Given the description of an element on the screen output the (x, y) to click on. 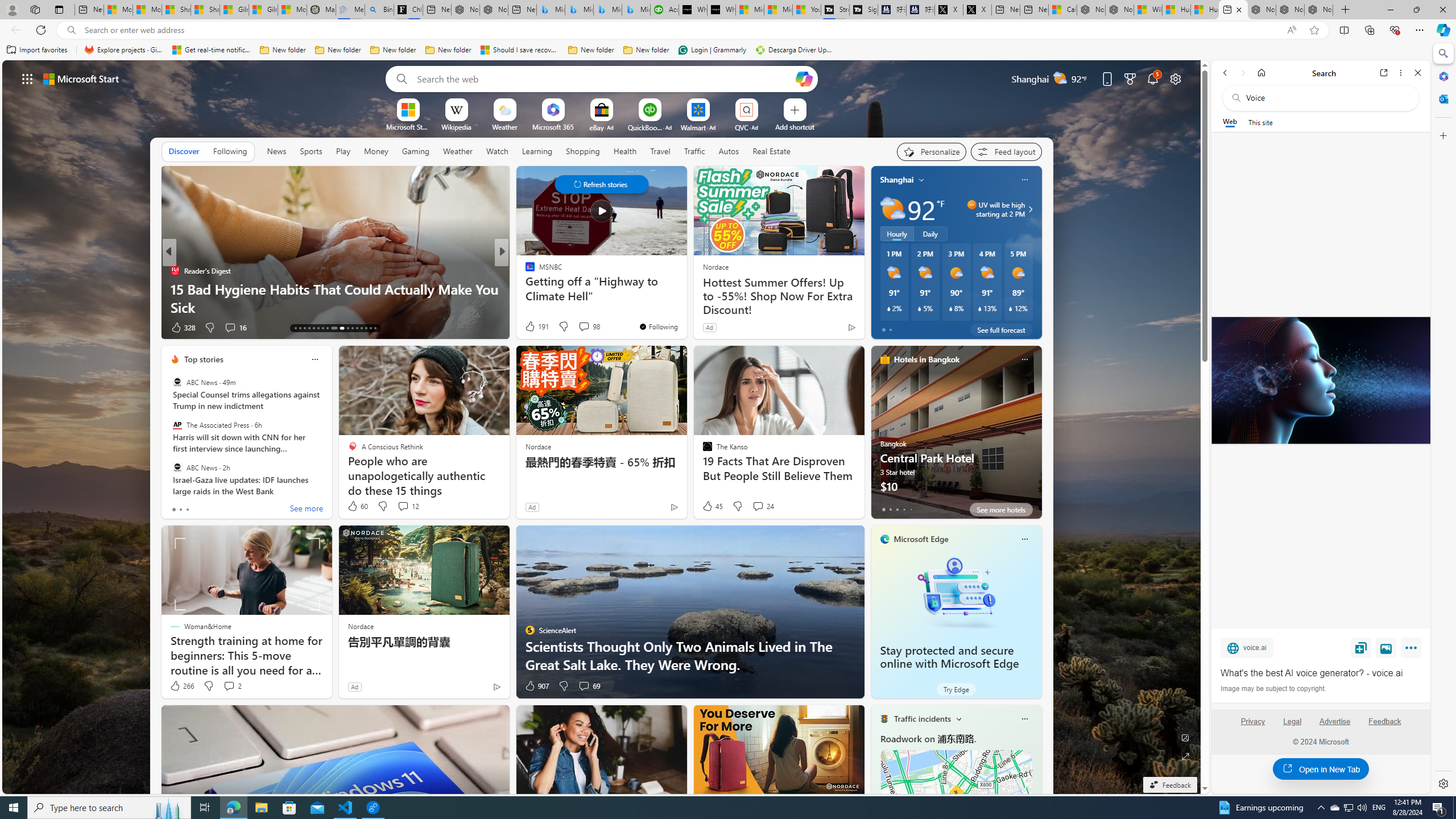
Nordace - Siena Pro 15 Essential Set (1319, 9)
FamilyProof (524, 270)
View comments 4 Comment (576, 327)
Privacy (1252, 721)
328 Like (182, 327)
News (277, 151)
AutomationID: tab-24 (352, 328)
More options (1401, 72)
Money (375, 151)
View comments 2 Comment (228, 685)
